Given the description of an element on the screen output the (x, y) to click on. 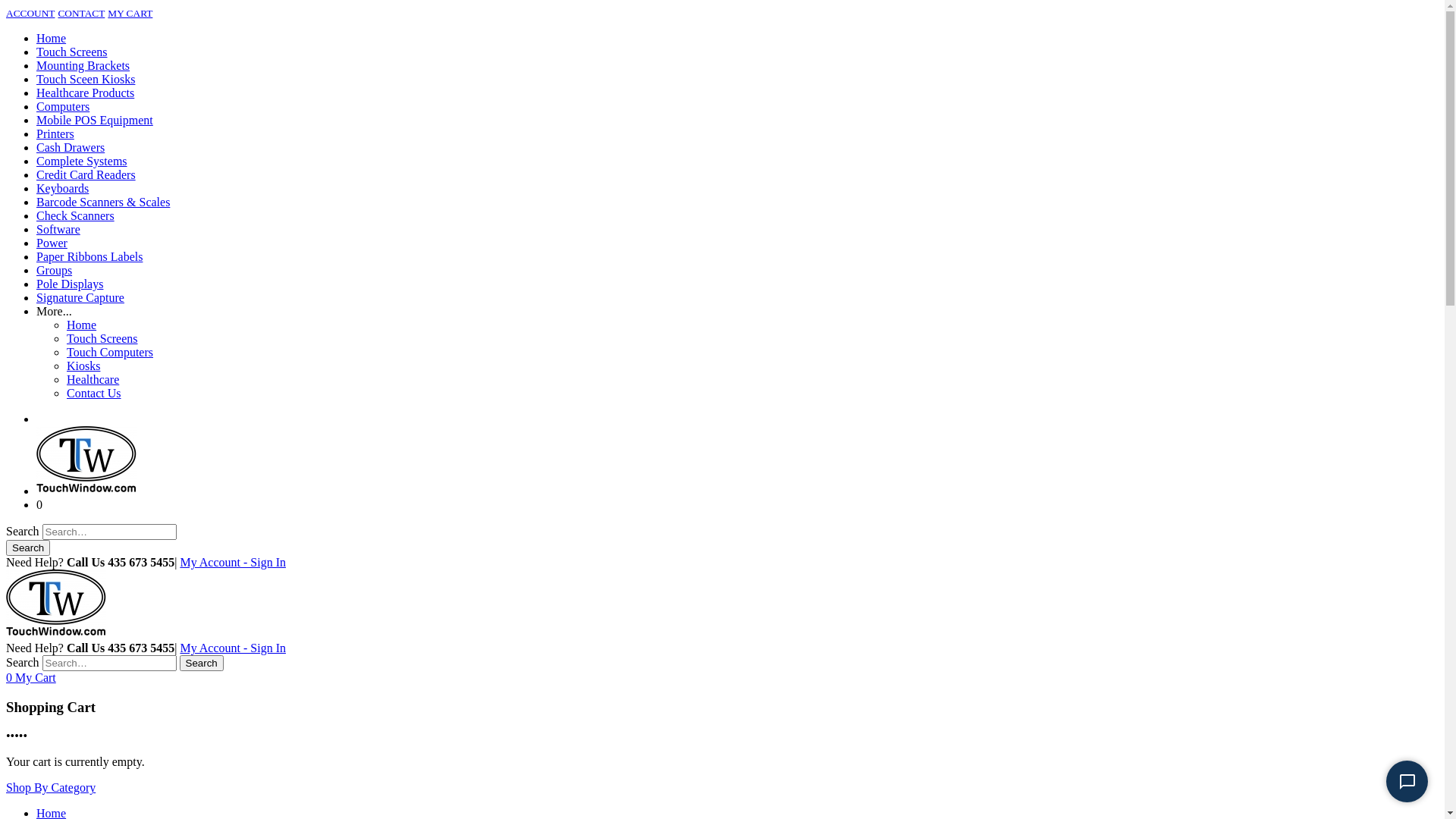
Signature Capture Element type: text (80, 297)
Kiosks Element type: text (83, 365)
Check Scanners Element type: text (75, 215)
Touch Sceen Kiosks Element type: text (85, 78)
Search Element type: text (28, 547)
Paper Ribbons Labels Element type: text (89, 256)
Touch Computers Element type: text (109, 351)
Touchwindow.com Element type: hover (86, 460)
Power Element type: text (51, 242)
MY CART Element type: text (129, 12)
Complete Systems Element type: text (81, 160)
Credit Card Readers Element type: text (85, 174)
0 My Cart Element type: text (31, 677)
Keyboards Element type: text (62, 188)
TouchWindow.com Element type: hover (722, 634)
Home Element type: text (50, 37)
Software Element type: text (58, 228)
Healthcare Element type: text (92, 379)
Touch Screens Element type: text (71, 51)
Pole Displays Element type: text (69, 283)
Cash Drawers Element type: text (70, 147)
Mounting Brackets Element type: text (82, 65)
Computers Element type: text (62, 106)
Start Chat Element type: text (1406, 781)
Contact Us Element type: text (93, 392)
Printers Element type: text (55, 133)
Groups Element type: text (54, 269)
Home Element type: text (81, 324)
TouchWindow.com Element type: hover (86, 490)
My Account - Sign In Element type: text (232, 647)
Mobile POS Equipment Element type: text (94, 119)
Healthcare Products Element type: text (85, 92)
Touch Screens Element type: text (102, 338)
ACCOUNT Element type: text (30, 12)
CONTACT Element type: text (80, 12)
Shop By Category Element type: text (50, 787)
Search Element type: text (201, 663)
My Account - Sign In Element type: text (232, 561)
Barcode Scanners & Scales Element type: text (102, 201)
